Given the description of an element on the screen output the (x, y) to click on. 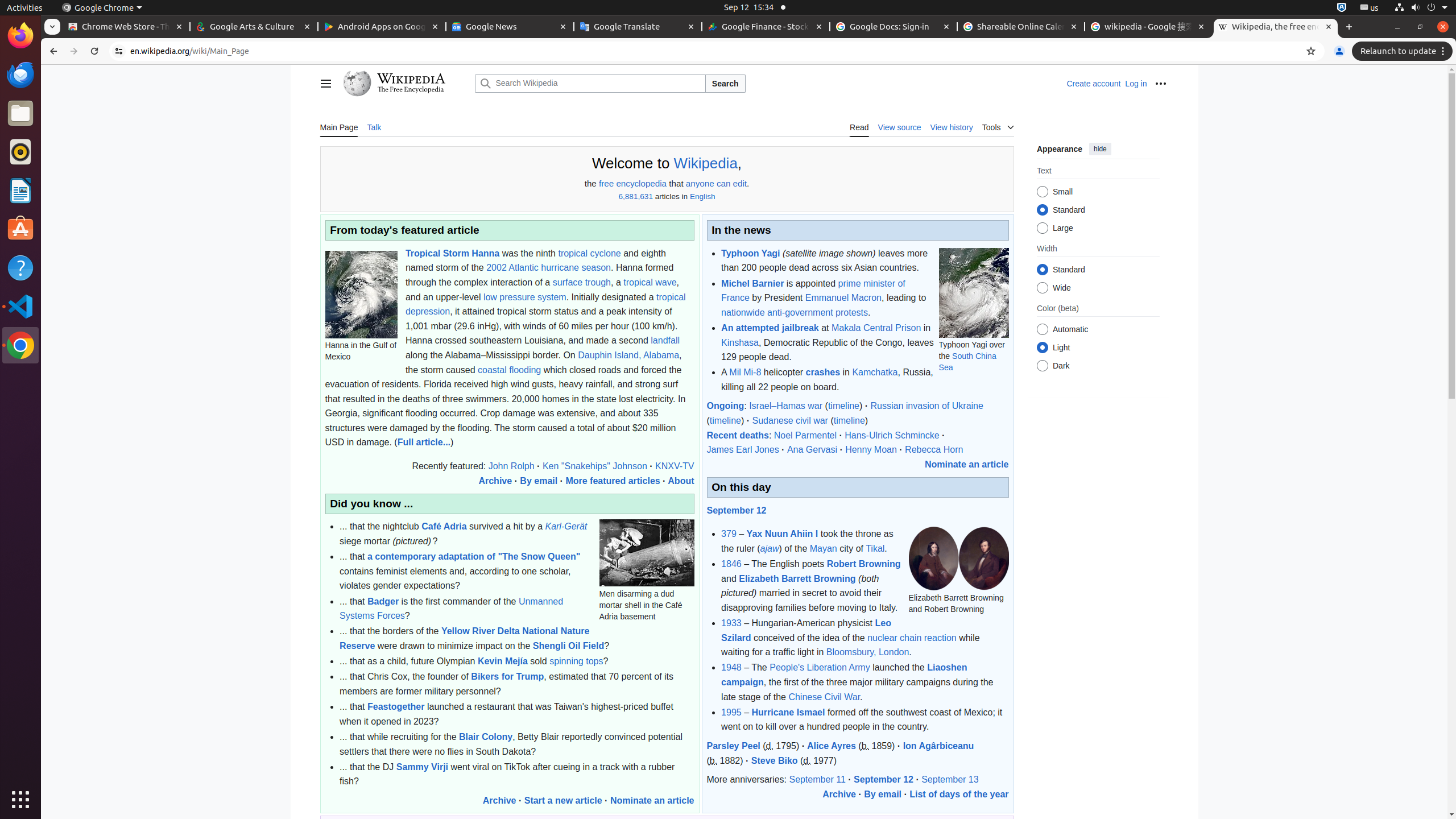
Dauphin Island, Alabama Element type: link (628, 354)
Bikers for Trump Element type: link (507, 676)
Steve Biko Element type: link (773, 760)
Israel–Hamas war Element type: link (785, 405)
Start a new article Element type: link (562, 800)
